Given the description of an element on the screen output the (x, y) to click on. 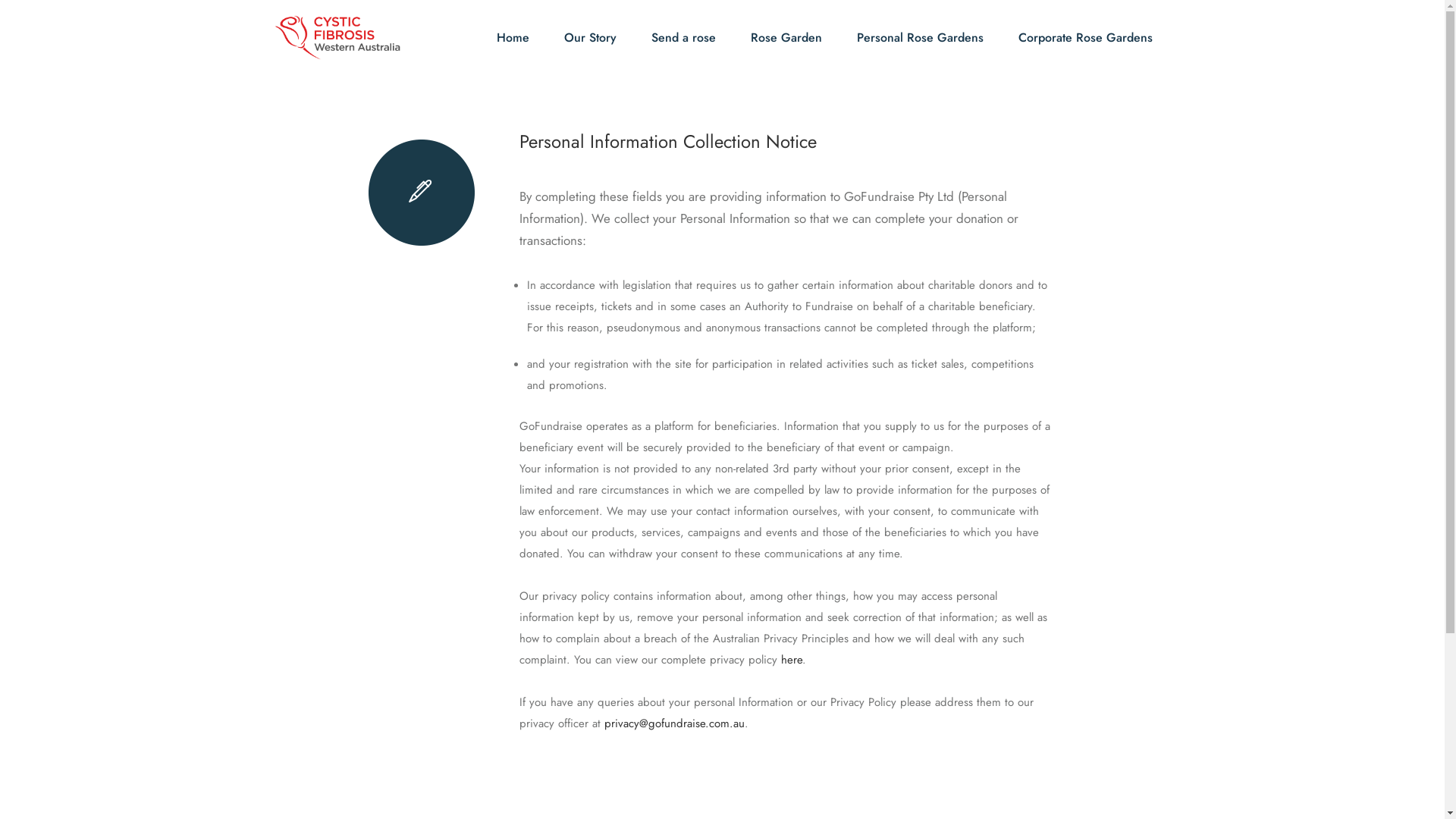
Send a rose Element type: text (682, 37)
Rose Garden Element type: text (786, 37)
here Element type: text (791, 659)
Corporate Rose Gardens Element type: text (1084, 37)
Our Story Element type: text (590, 37)
Personal Rose Gardens Element type: text (919, 37)
Home Element type: text (511, 37)
privacy@gofundraise.com.au Element type: text (673, 723)
